Given the description of an element on the screen output the (x, y) to click on. 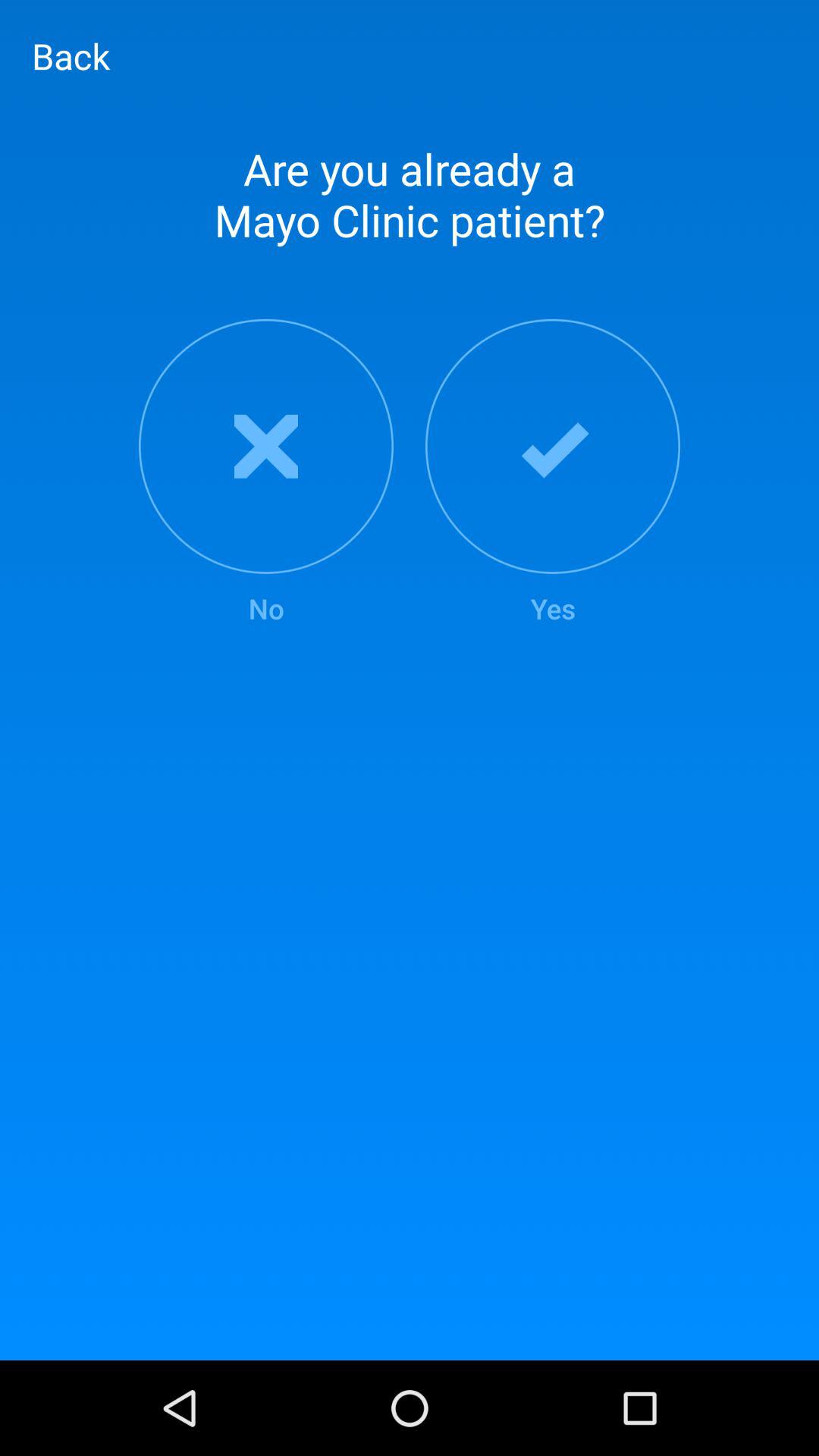
press the item to the left of yes item (265, 473)
